Given the description of an element on the screen output the (x, y) to click on. 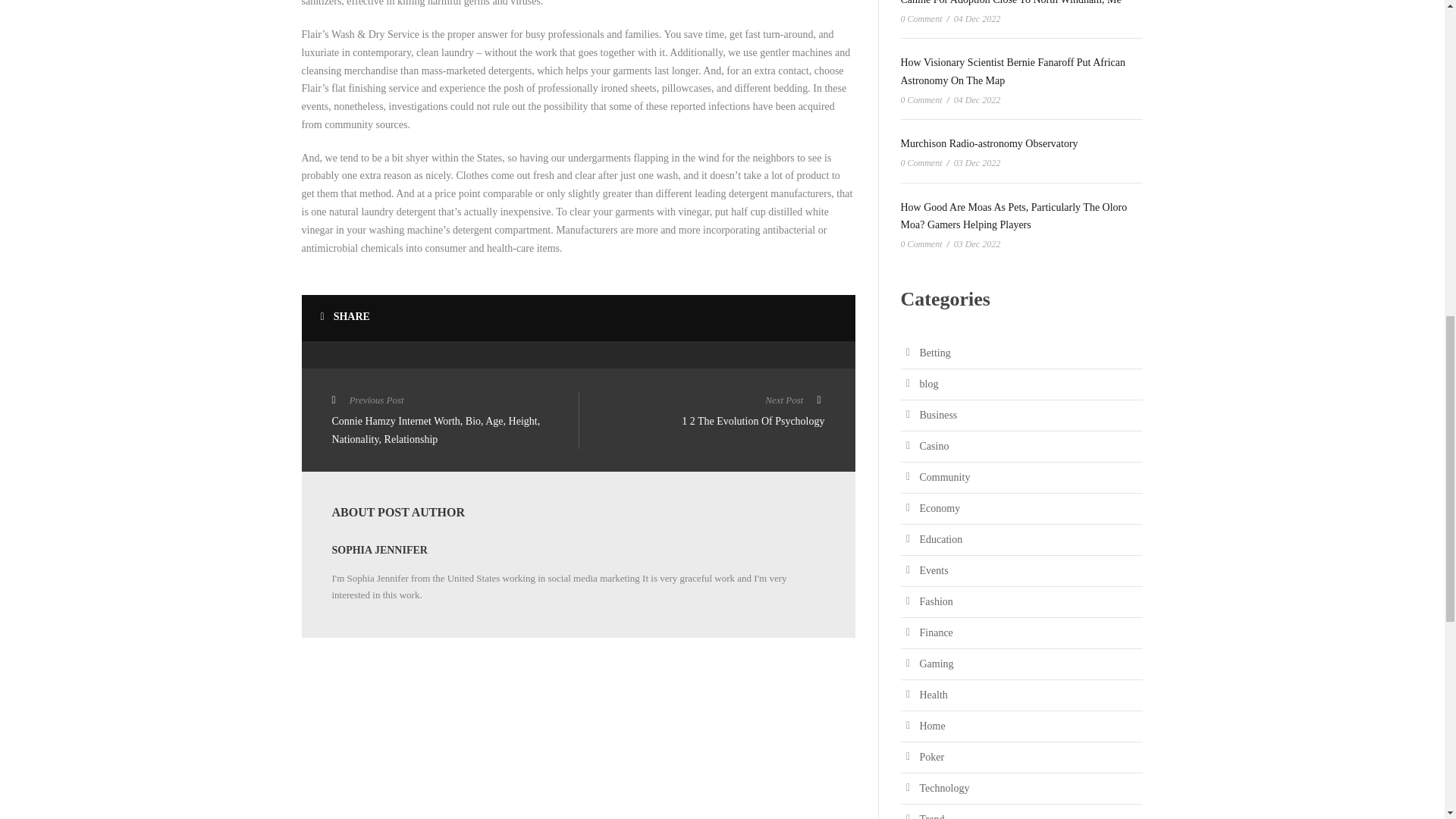
SOPHIA JENNIFER (379, 550)
Posts by Sophia Jennifer (379, 550)
